Given the description of an element on the screen output the (x, y) to click on. 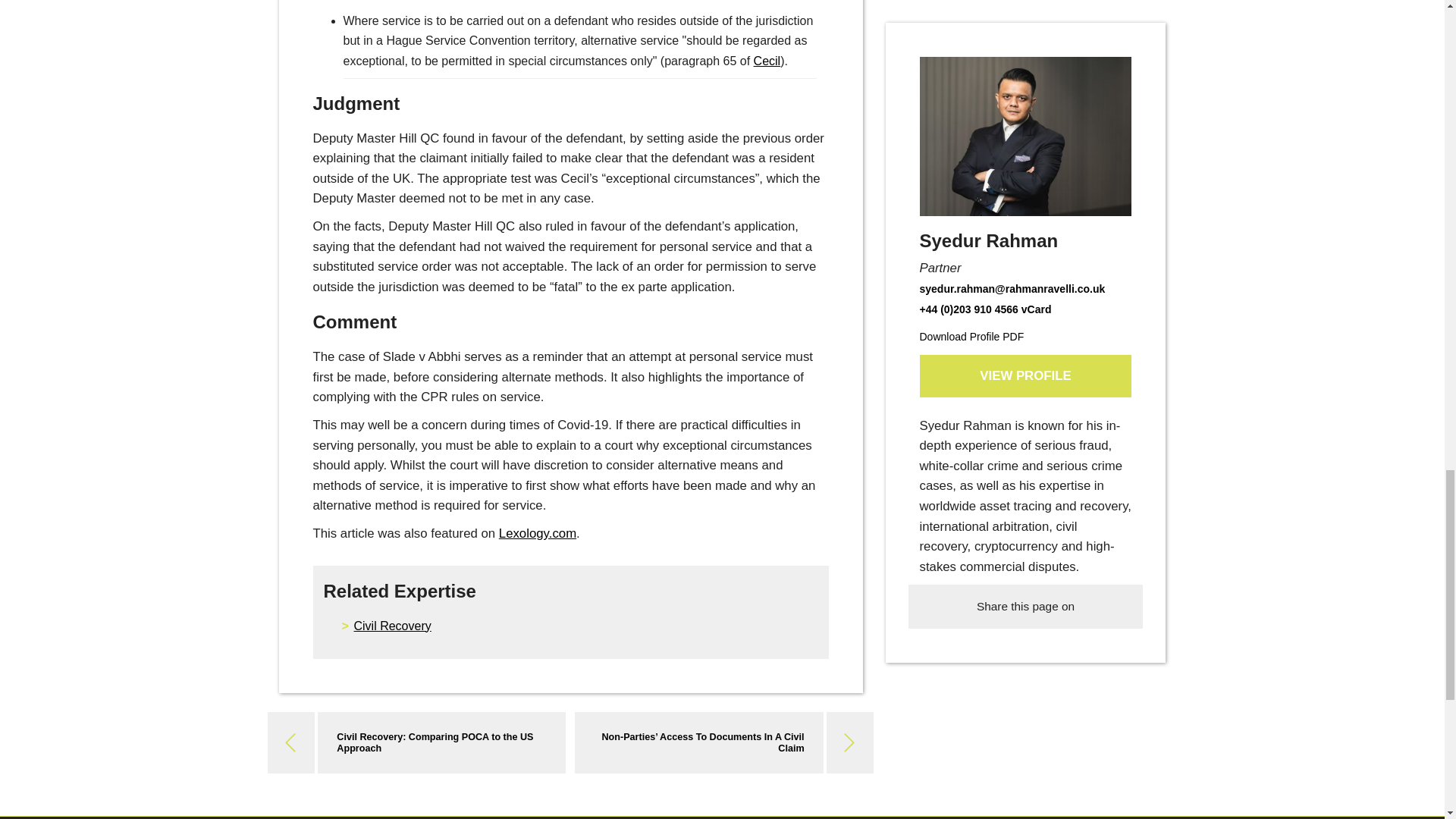
Link to: Civil Recovery (391, 625)
Link to: Civil Recovery: Comparing POCA to the US Approach (434, 742)
